Given the description of an element on the screen output the (x, y) to click on. 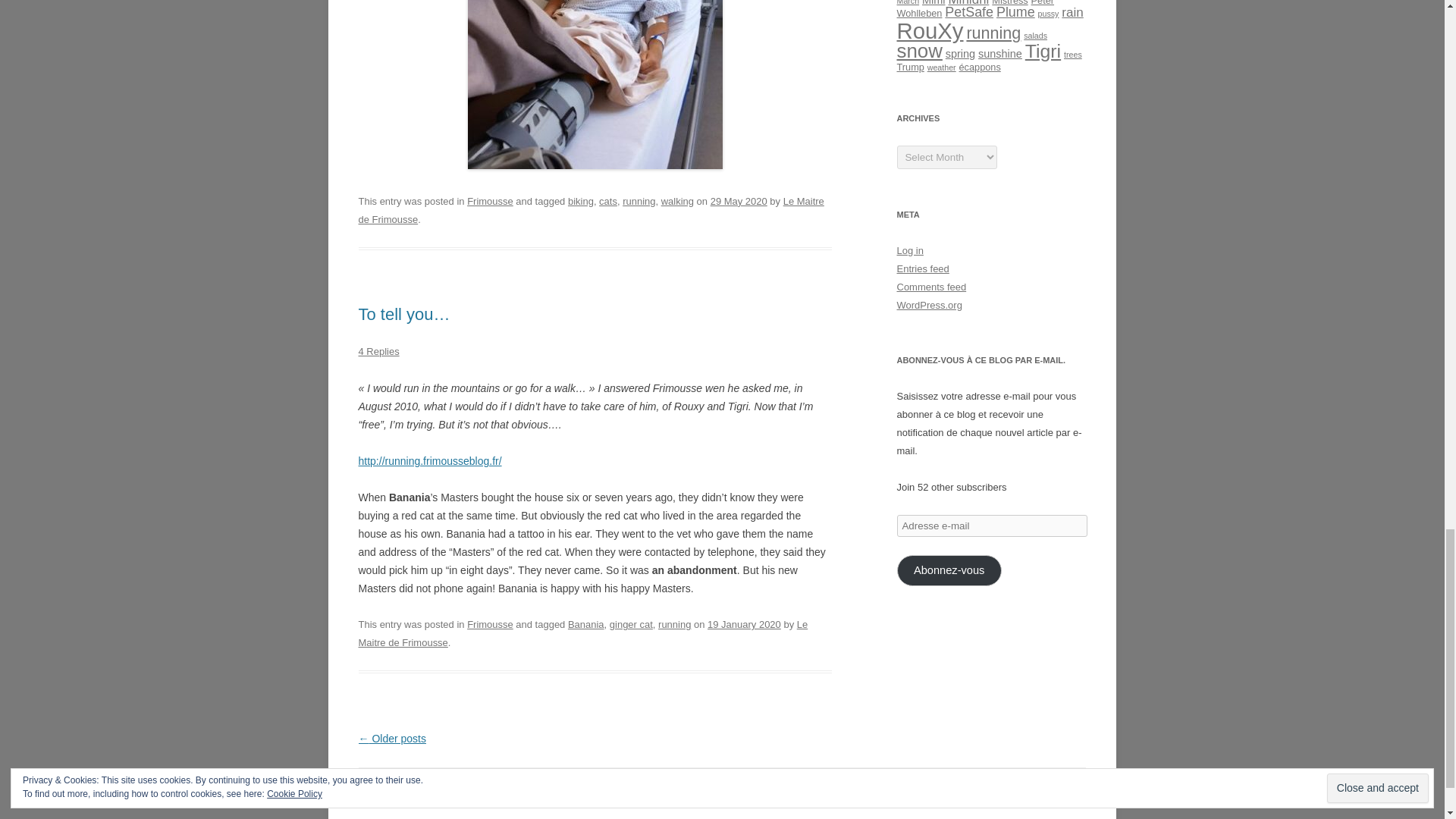
15:54 (743, 624)
19 January 2020 (743, 624)
running (639, 201)
running (674, 624)
View all posts by Le Maitre de Frimousse (591, 210)
walking (677, 201)
View all posts by Le Maitre de Frimousse (583, 633)
Frimousse (490, 624)
biking (580, 201)
Le Maitre de Frimousse (591, 210)
